Given the description of an element on the screen output the (x, y) to click on. 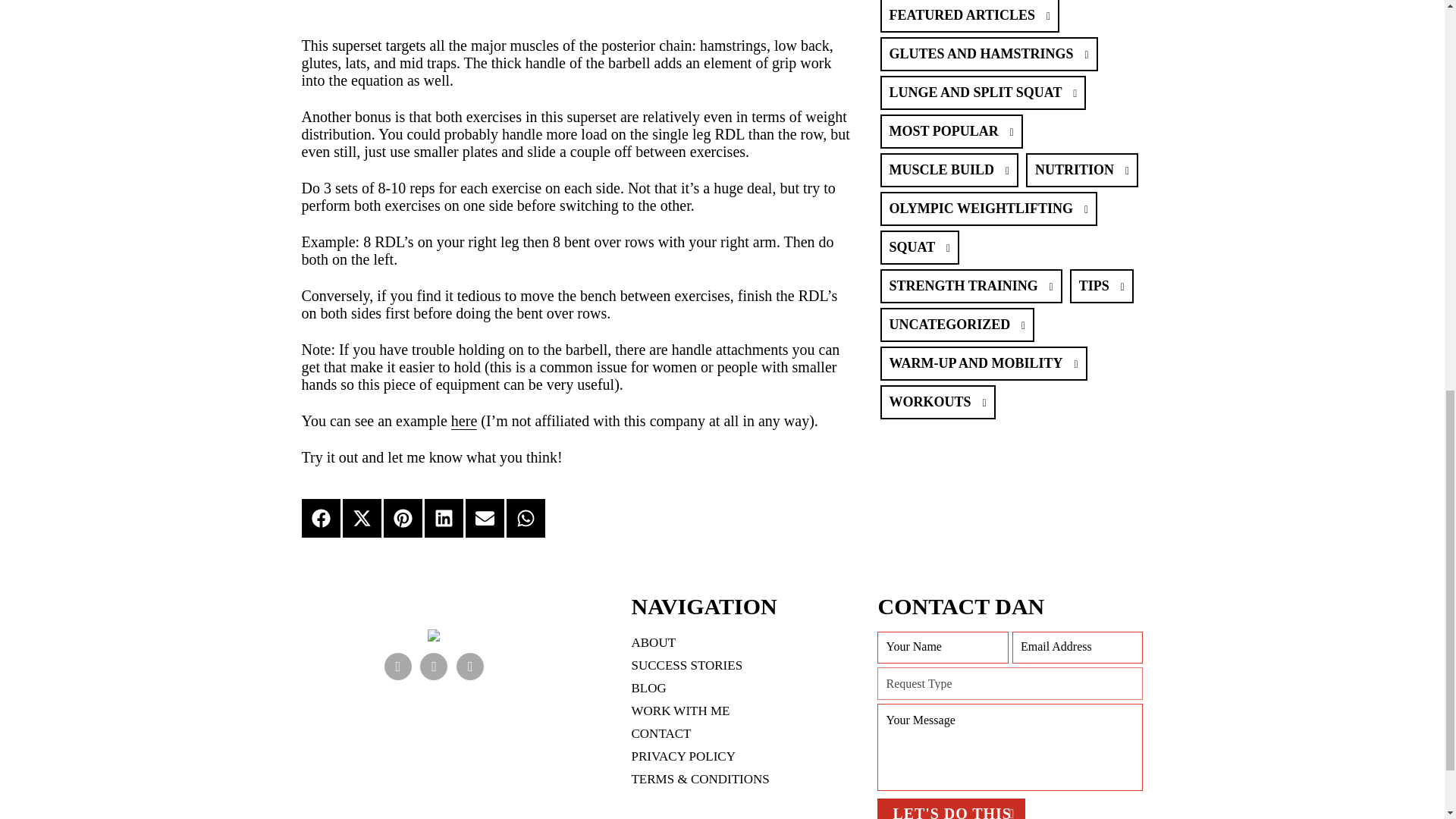
GLUTES AND HAMSTRINGS (988, 53)
WARM-UP AND MOBILITY (982, 363)
here (464, 420)
FEATURED ARTICLES (969, 16)
Share on Pinterest (403, 517)
STRENGTH TRAINING (970, 286)
Share on WhatsApp (525, 517)
Share on Email (484, 517)
WORKOUTS (936, 401)
UNCATEGORIZED (956, 324)
